Given the description of an element on the screen output the (x, y) to click on. 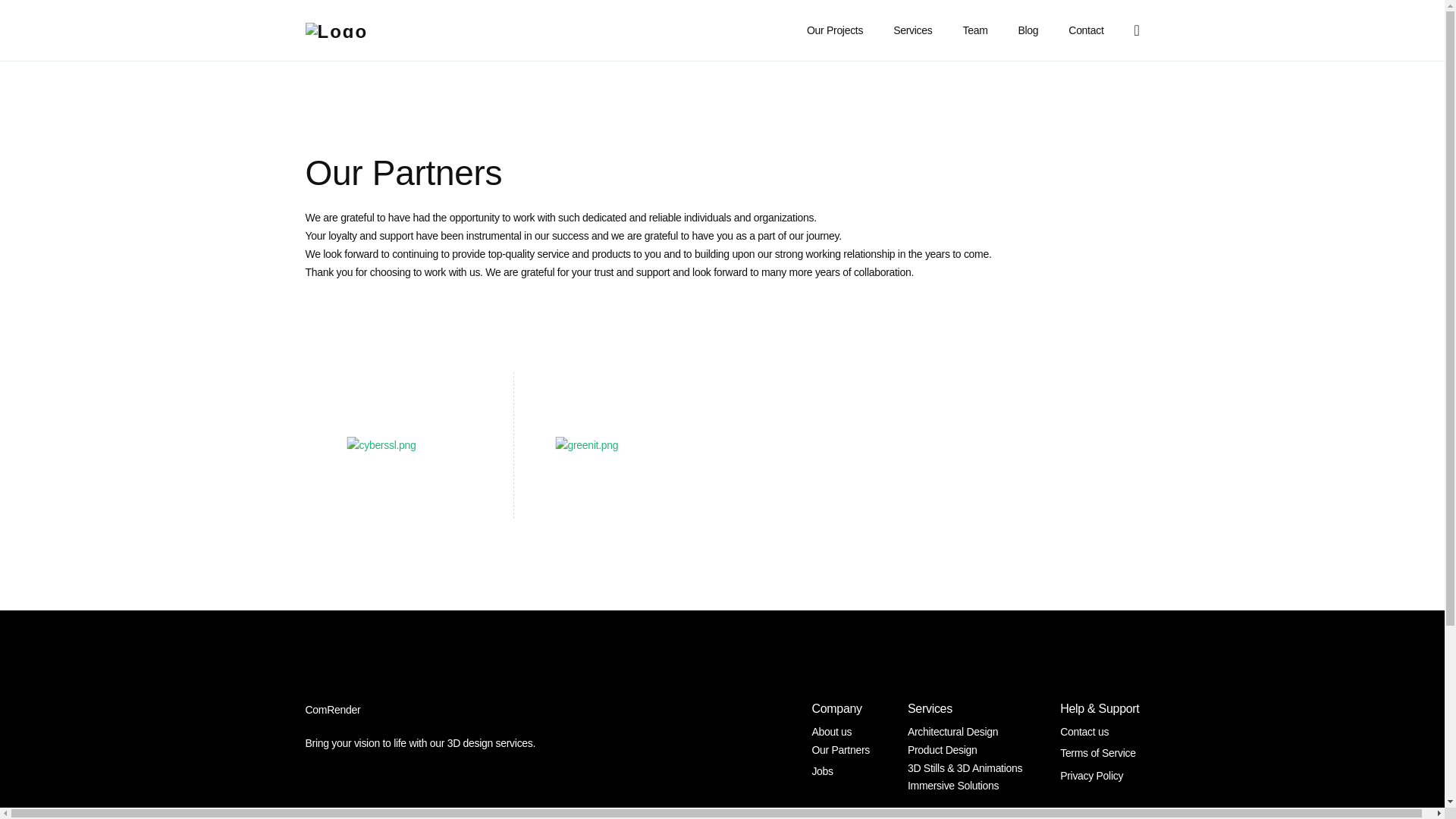
About us (830, 731)
Team (975, 30)
Product Design (941, 749)
Immersive Solutions (952, 785)
Contact (1085, 30)
Privacy Policy (1098, 775)
Contact (1085, 30)
Team (975, 30)
Architectural Design (952, 731)
Our Partners (839, 749)
